Given the description of an element on the screen output the (x, y) to click on. 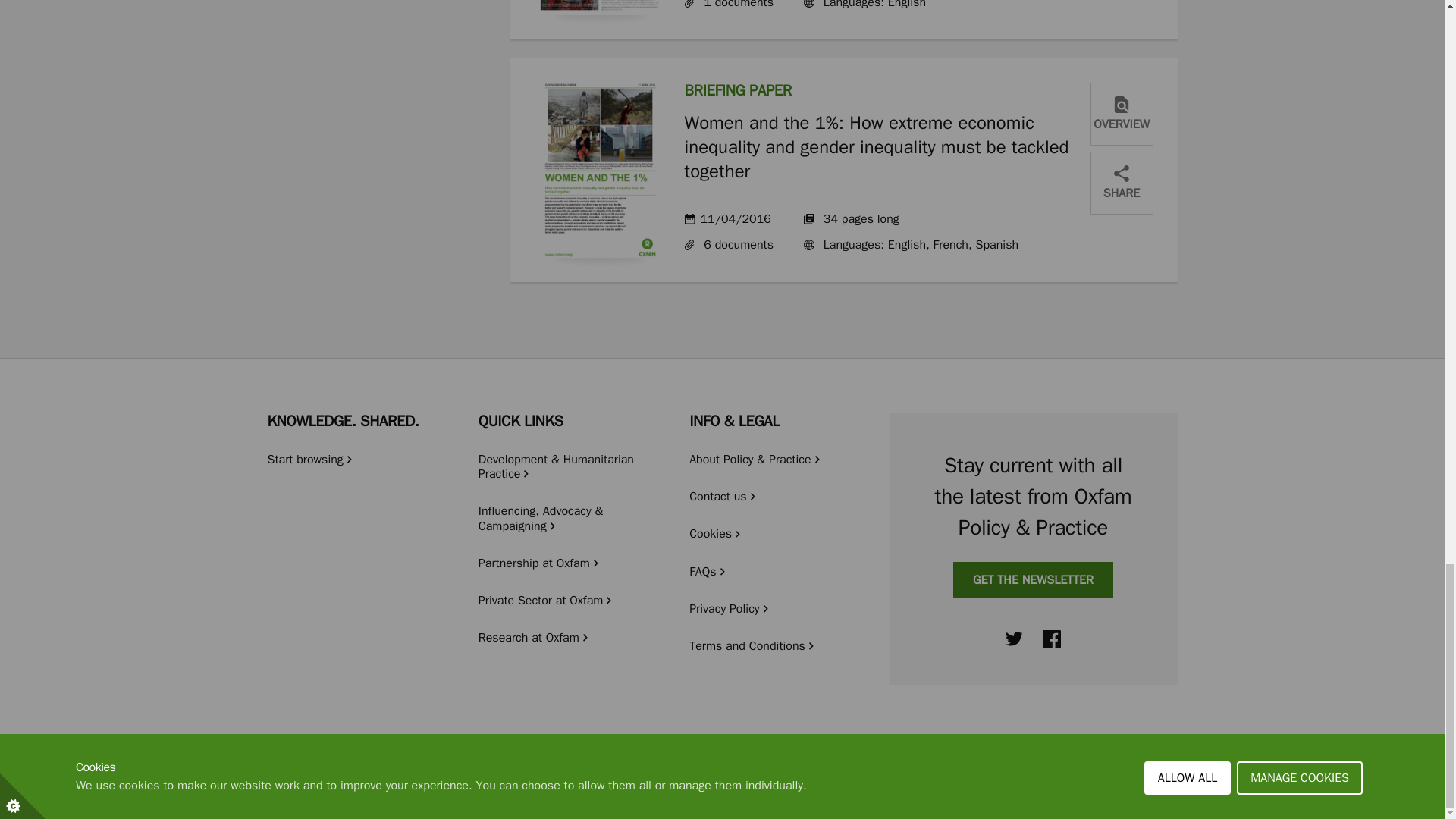
Get the newsletter (1032, 579)
